Given the description of an element on the screen output the (x, y) to click on. 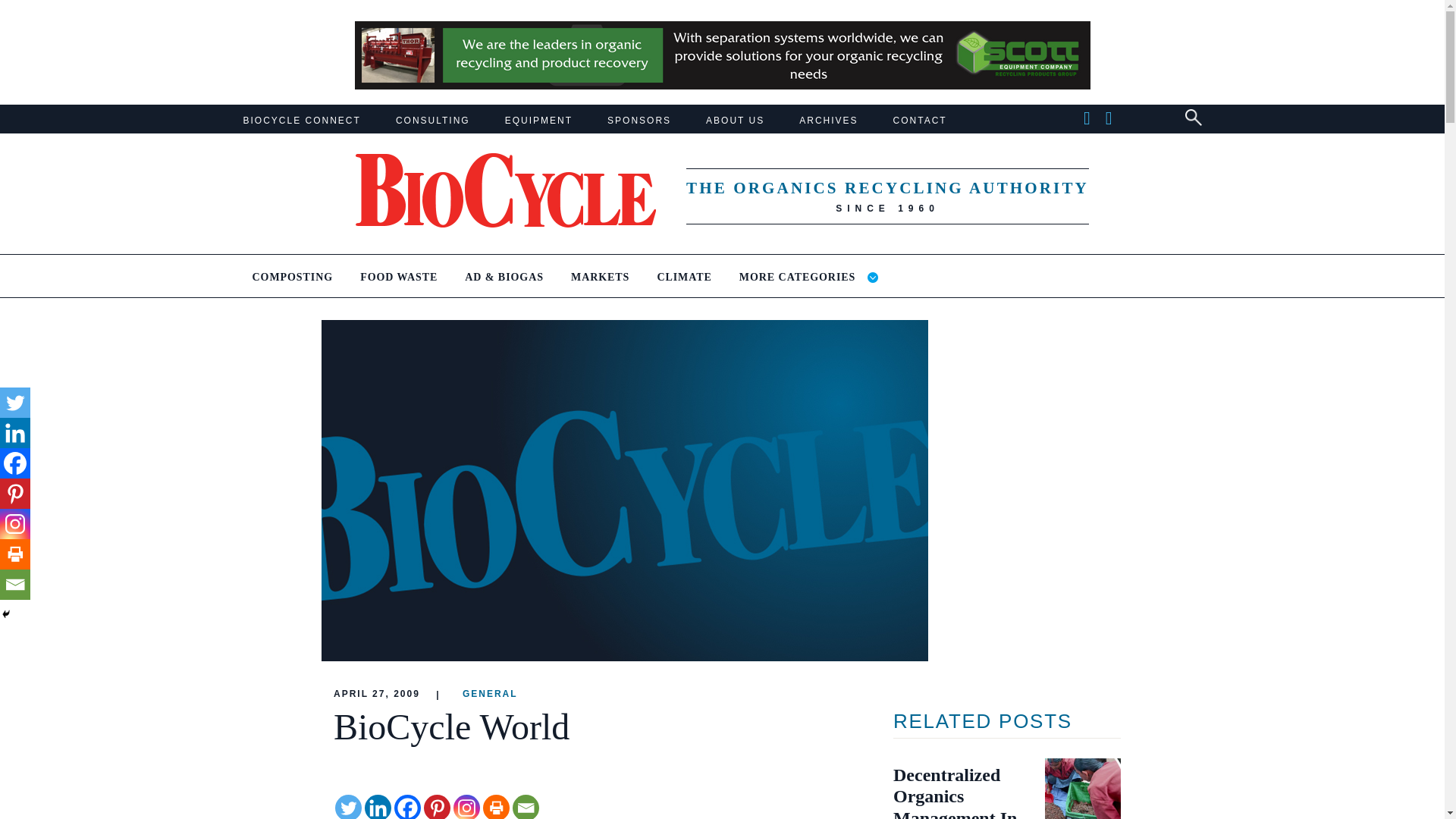
Twitter (347, 806)
CONSULTING (433, 120)
Email (525, 806)
ABOUT US (735, 120)
Facebook (15, 462)
Linkedin (378, 806)
Print (496, 806)
BIOCYCLE CONNECT (301, 120)
EQUIPMENT (538, 120)
Twitter (15, 402)
CONTACT (920, 120)
Linkedin (15, 432)
ARCHIVES (828, 120)
Pinterest (436, 806)
SPONSORS (639, 120)
